Given the description of an element on the screen output the (x, y) to click on. 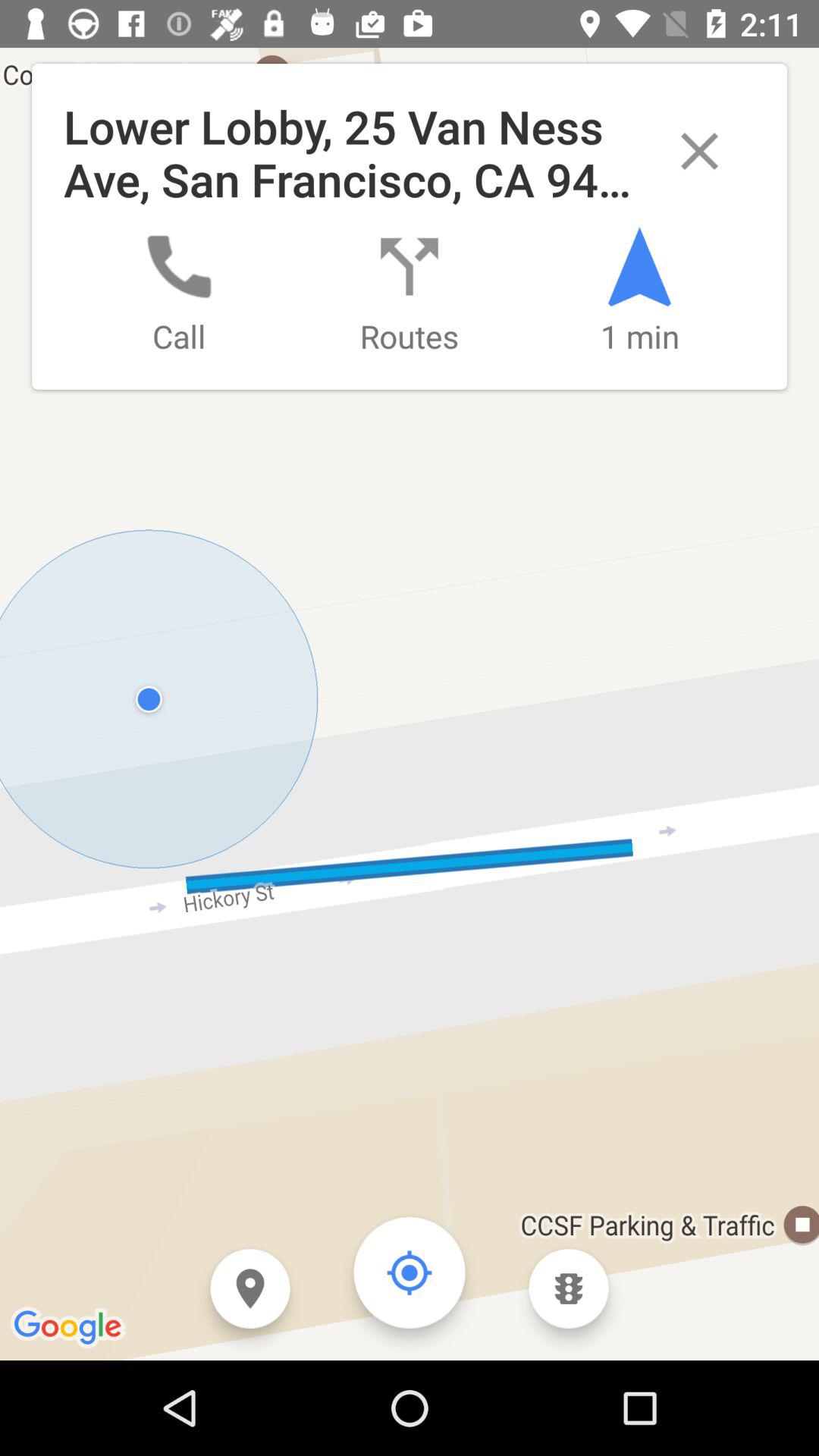
exit (699, 151)
